Given the description of an element on the screen output the (x, y) to click on. 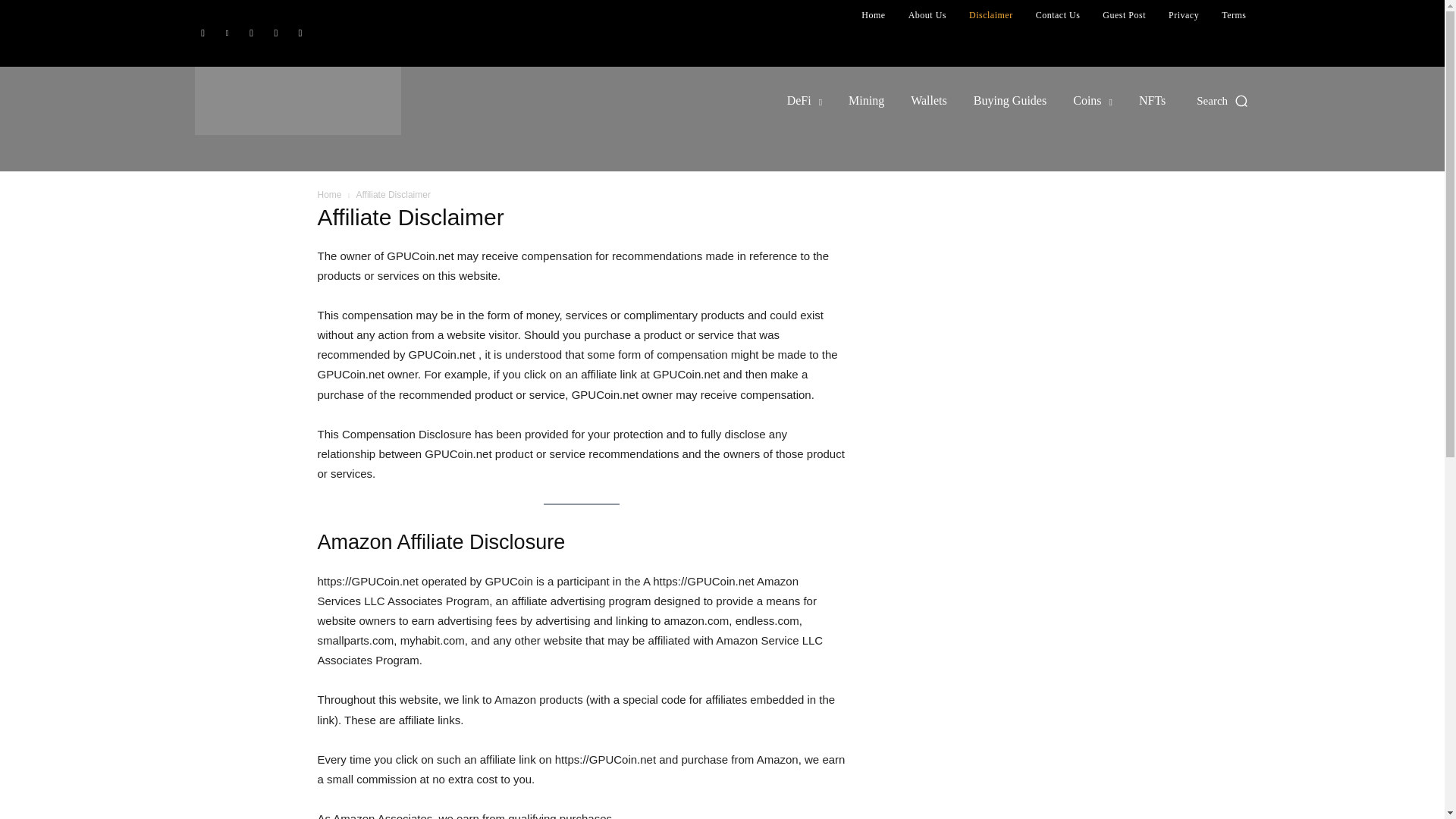
GoPickUp Coin Now (296, 100)
Privacy (1183, 15)
Home (872, 15)
Buying Guides (1009, 100)
GoPickUp Coin Now (357, 100)
Contact Us (1058, 15)
Twitter (275, 33)
Youtube (300, 33)
Reddit (251, 33)
Terms (1233, 15)
